Given the description of an element on the screen output the (x, y) to click on. 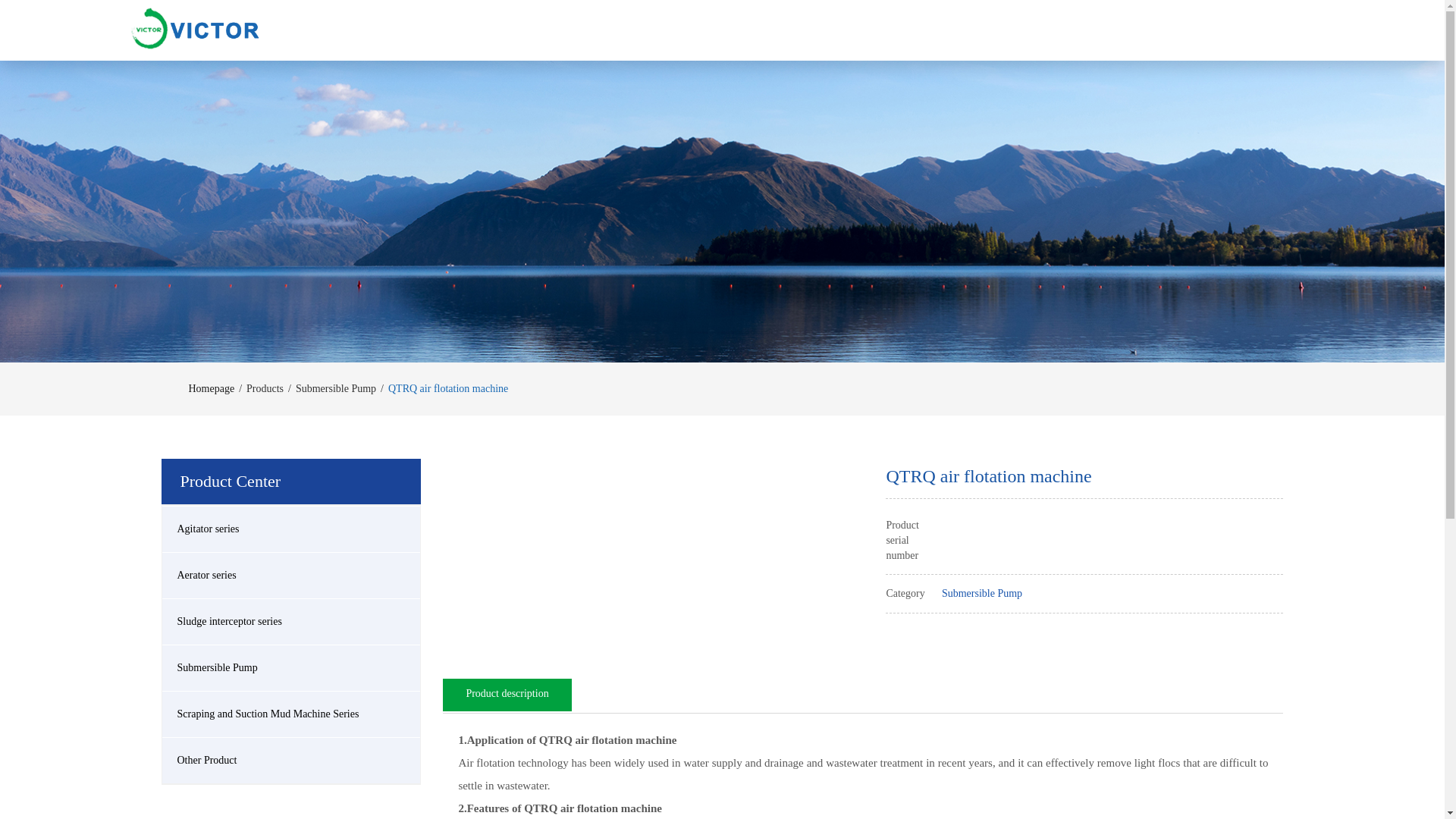
Homepage (210, 388)
Other Product (290, 759)
Aerator series (290, 575)
Scraping and Suction Mud Machine Series (290, 714)
Submersible Pump (335, 388)
Sludge interceptor series (290, 621)
Submersible Pump (982, 593)
Submersible Pump (290, 668)
Products (264, 388)
victor (194, 28)
